Given the description of an element on the screen output the (x, y) to click on. 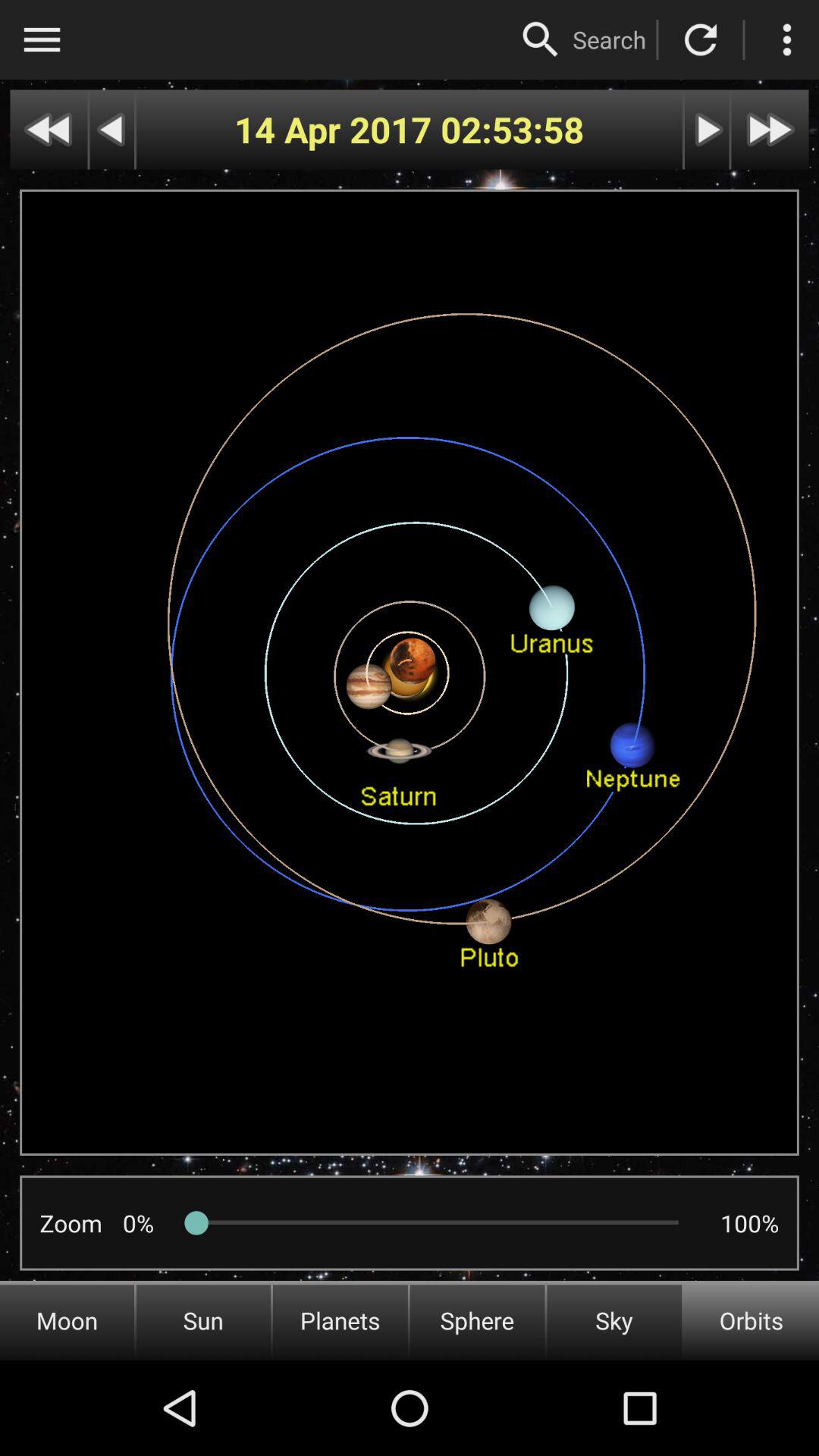
advance one month (769, 129)
